Given the description of an element on the screen output the (x, y) to click on. 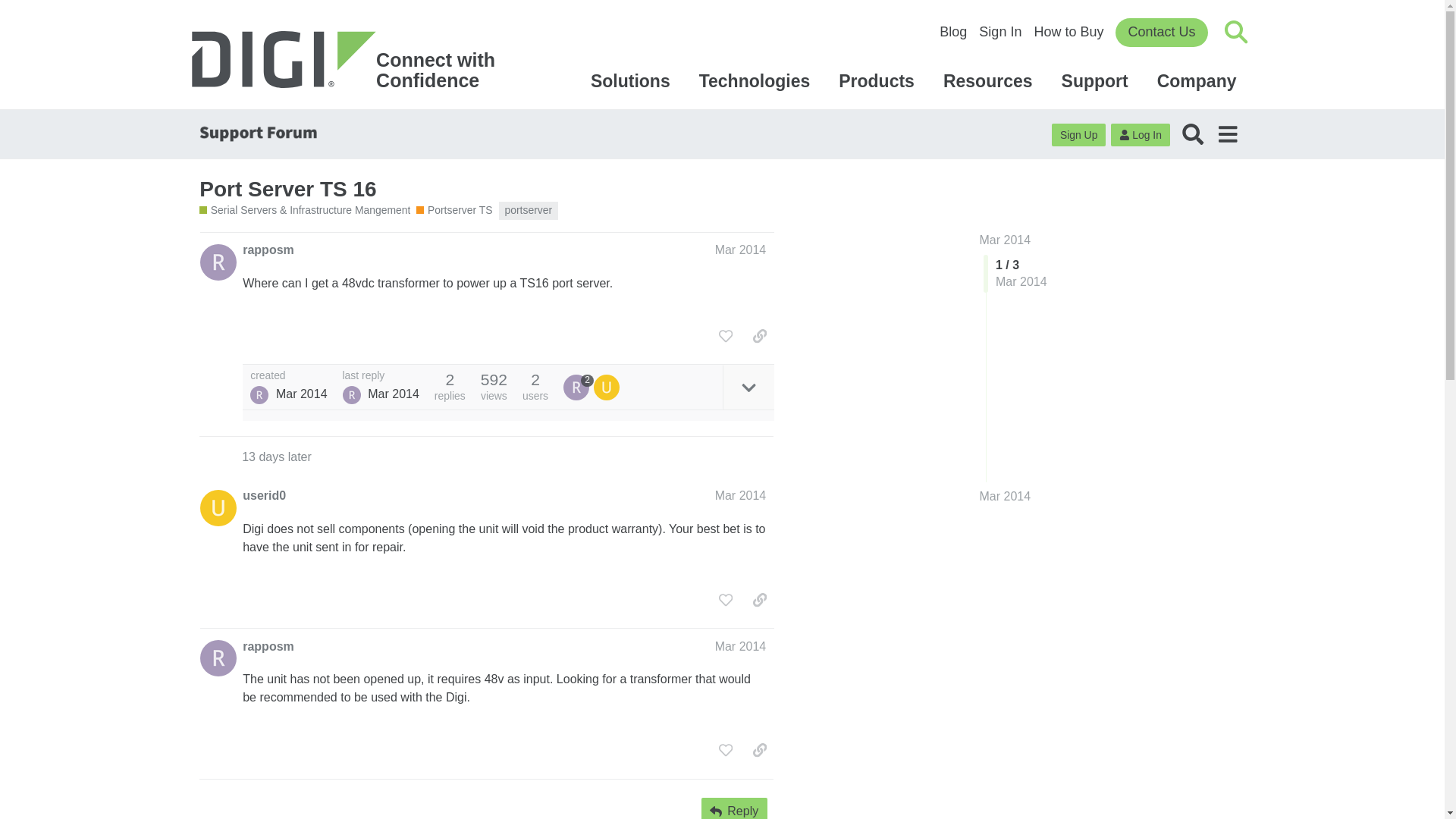
Click to toggle Search (1236, 32)
Home (349, 61)
Click to toggle resources menu (990, 81)
How to Buy (1068, 31)
Post date (740, 249)
Search (1192, 133)
Jump to the last post (1004, 495)
Click to toggle support menu (1198, 81)
copy a link to this post to clipboard (759, 335)
Technologies (757, 81)
Blog (952, 31)
like this post (725, 335)
Click to toggle solutions menu (632, 81)
Click to toggle techologies menu (757, 81)
menu (1226, 133)
